Given the description of an element on the screen output the (x, y) to click on. 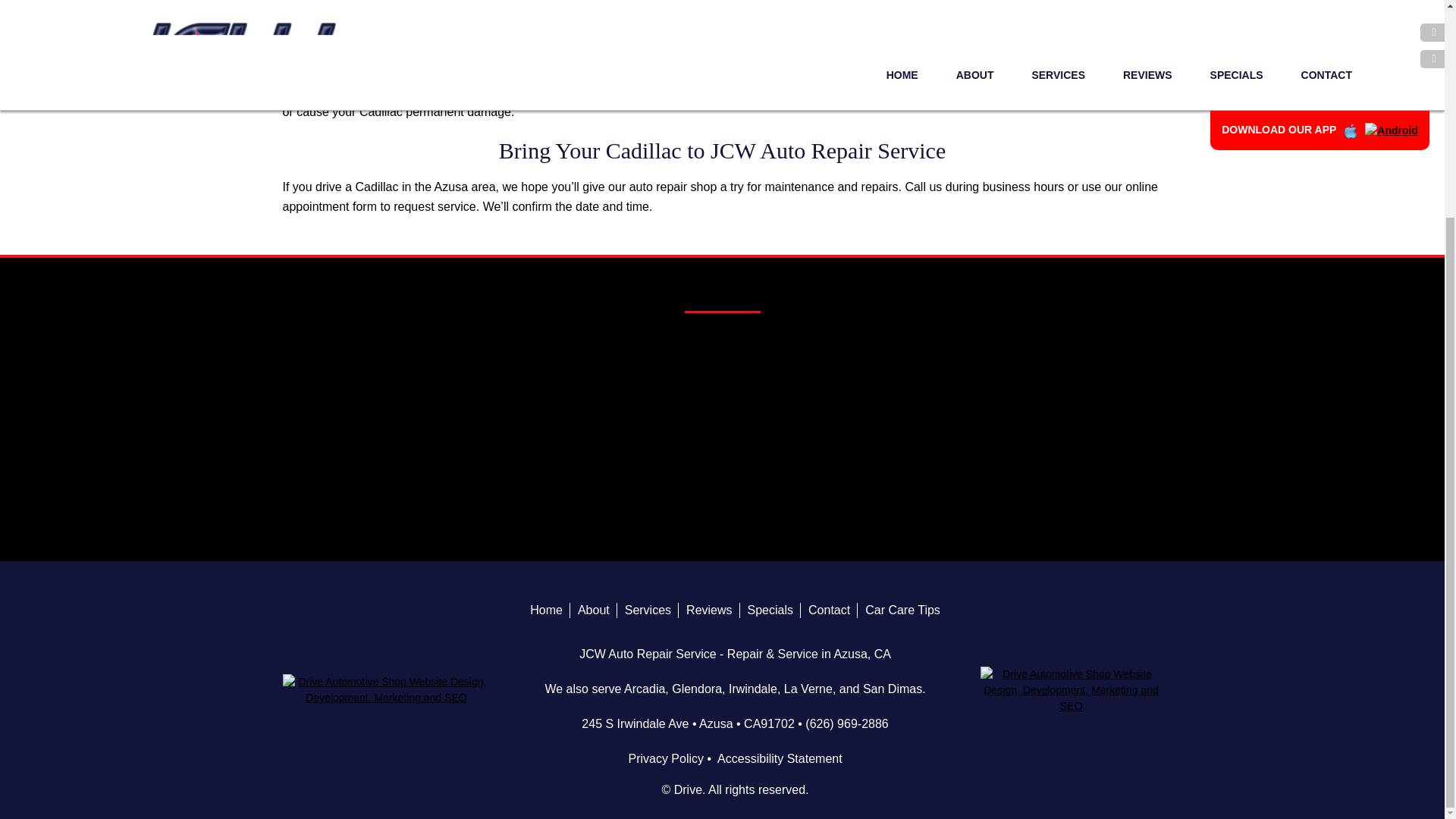
Bentley (722, 342)
Chevrolet (551, 364)
Cadillac (379, 364)
Audi (551, 342)
Buick (1065, 342)
Acura (379, 342)
BMW (893, 342)
